Given the description of an element on the screen output the (x, y) to click on. 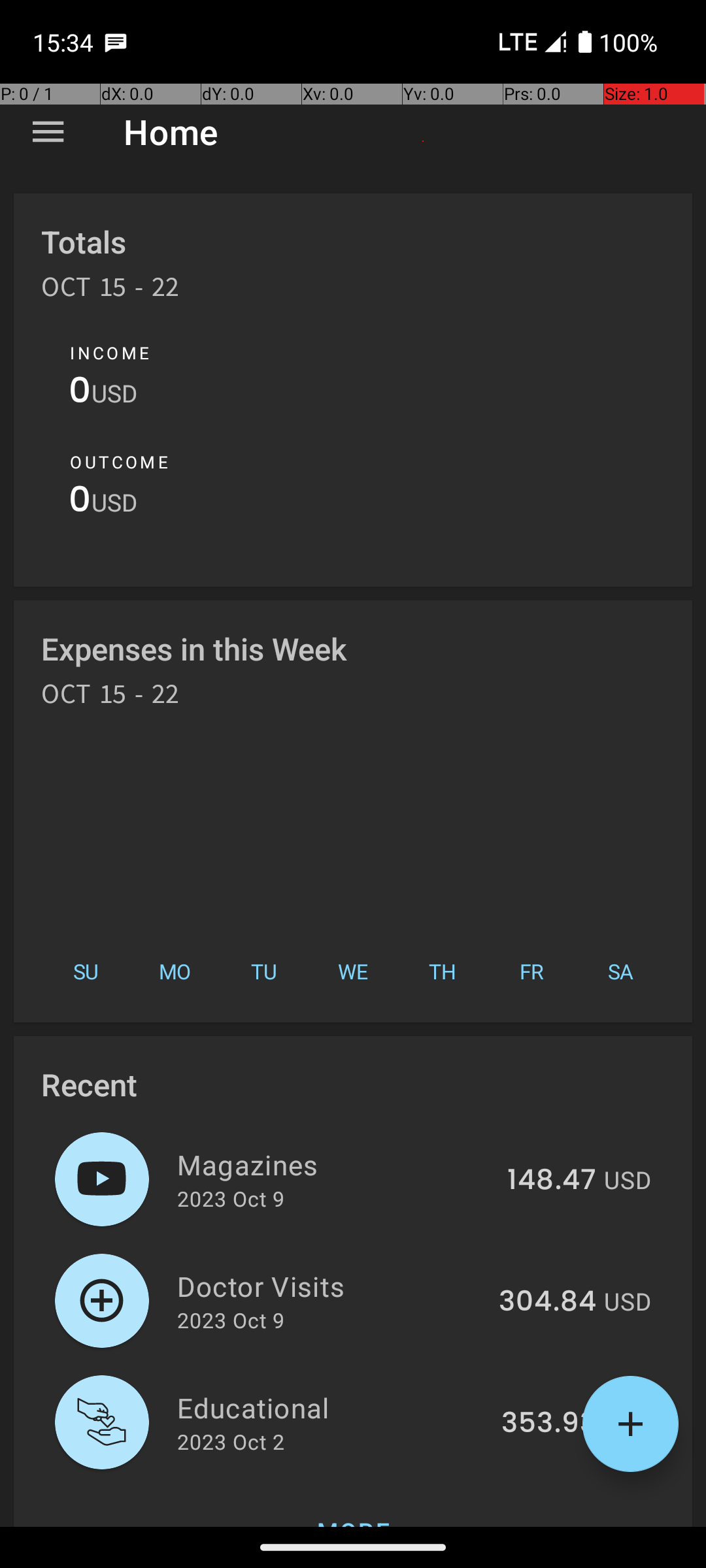
Magazines Element type: android.widget.TextView (334, 1164)
148.47 Element type: android.widget.TextView (551, 1180)
304.84 Element type: android.widget.TextView (547, 1301)
Educational Element type: android.widget.TextView (331, 1407)
2023 Oct 2 Element type: android.widget.TextView (230, 1441)
353.93 Element type: android.widget.TextView (548, 1423)
